Given the description of an element on the screen output the (x, y) to click on. 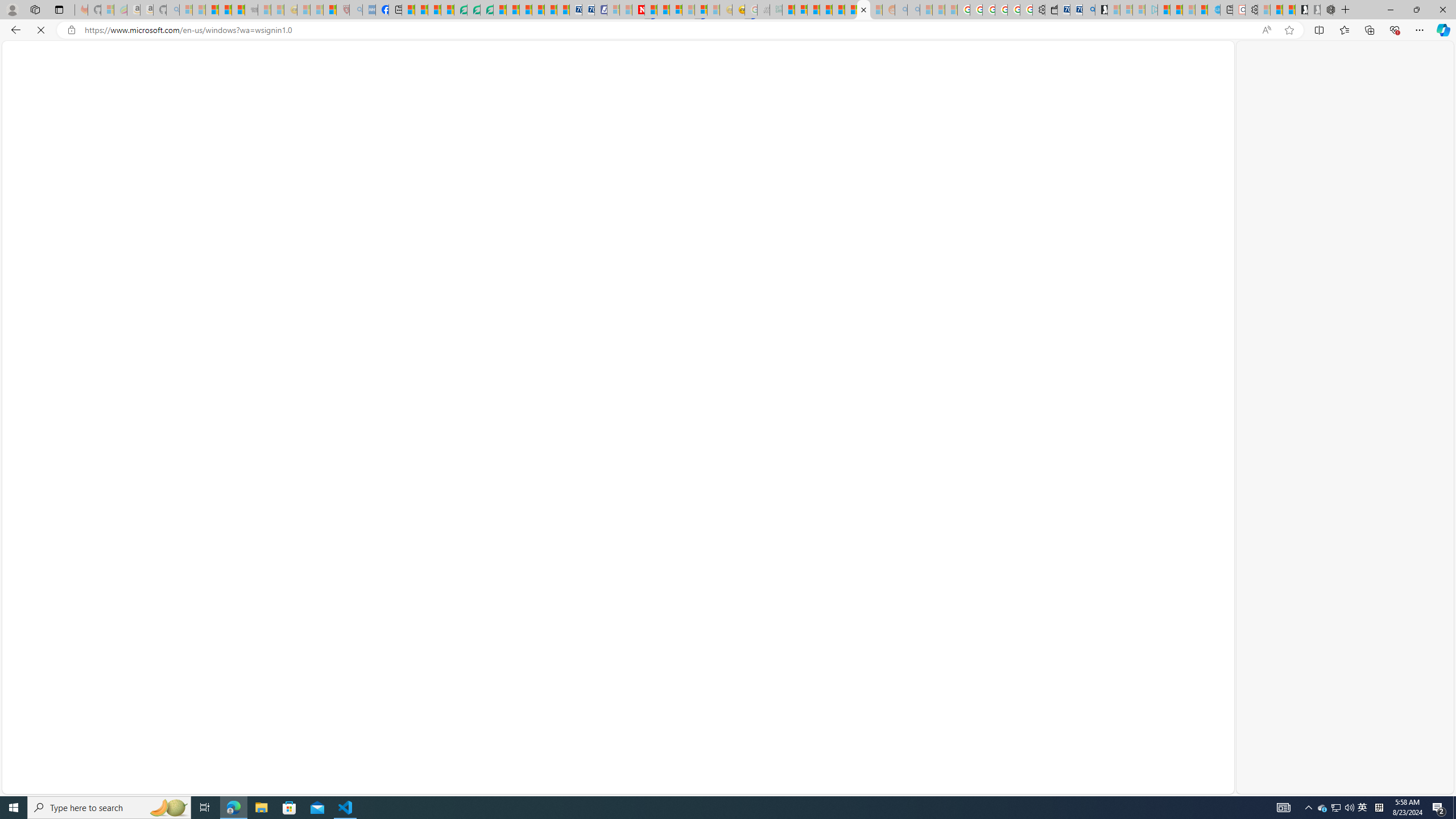
Latest Politics News & Archive | Newsweek.com (638, 9)
Bing Real Estate - Home sales and rental listings (1088, 9)
Microsoft Word - consumer-privacy address update 2.2021 (486, 9)
